Given the description of an element on the screen output the (x, y) to click on. 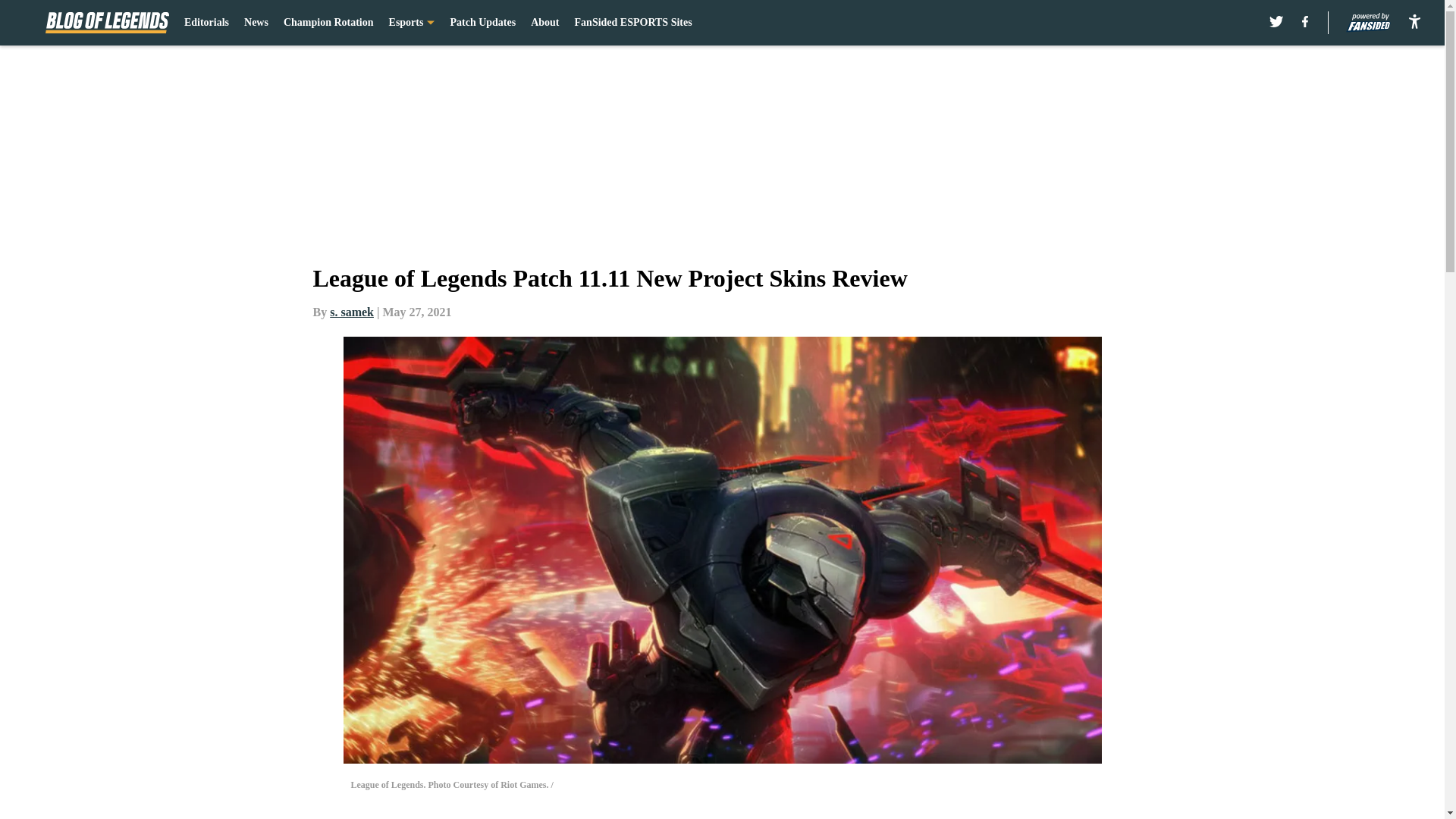
s. samek (352, 311)
Editorials (206, 22)
Champion Rotation (328, 22)
News (255, 22)
Patch Updates (482, 22)
FanSided ESPORTS Sites (634, 22)
About (545, 22)
